Given the description of an element on the screen output the (x, y) to click on. 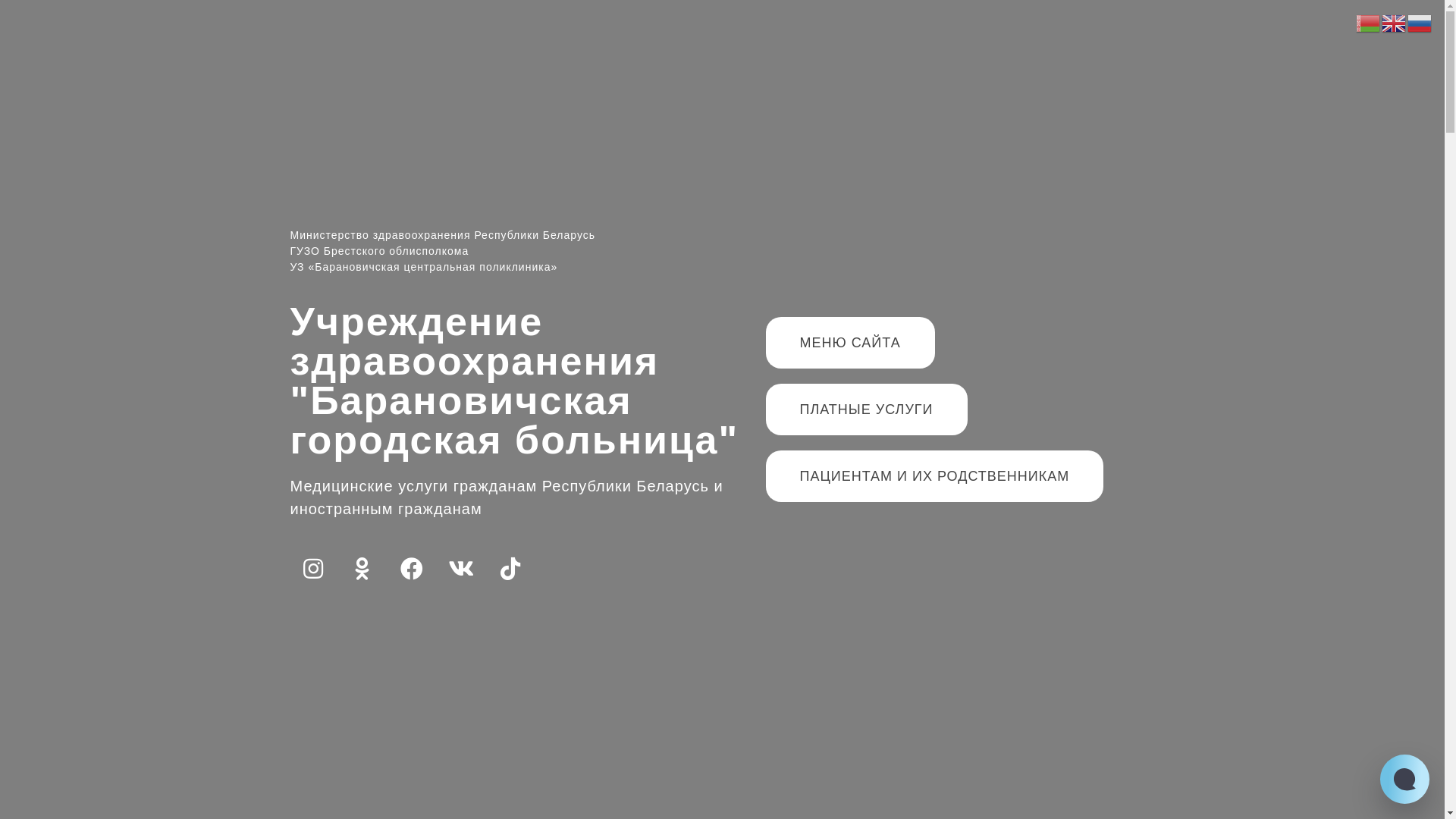
English Element type: hover (1394, 21)
